Given the description of an element on the screen output the (x, y) to click on. 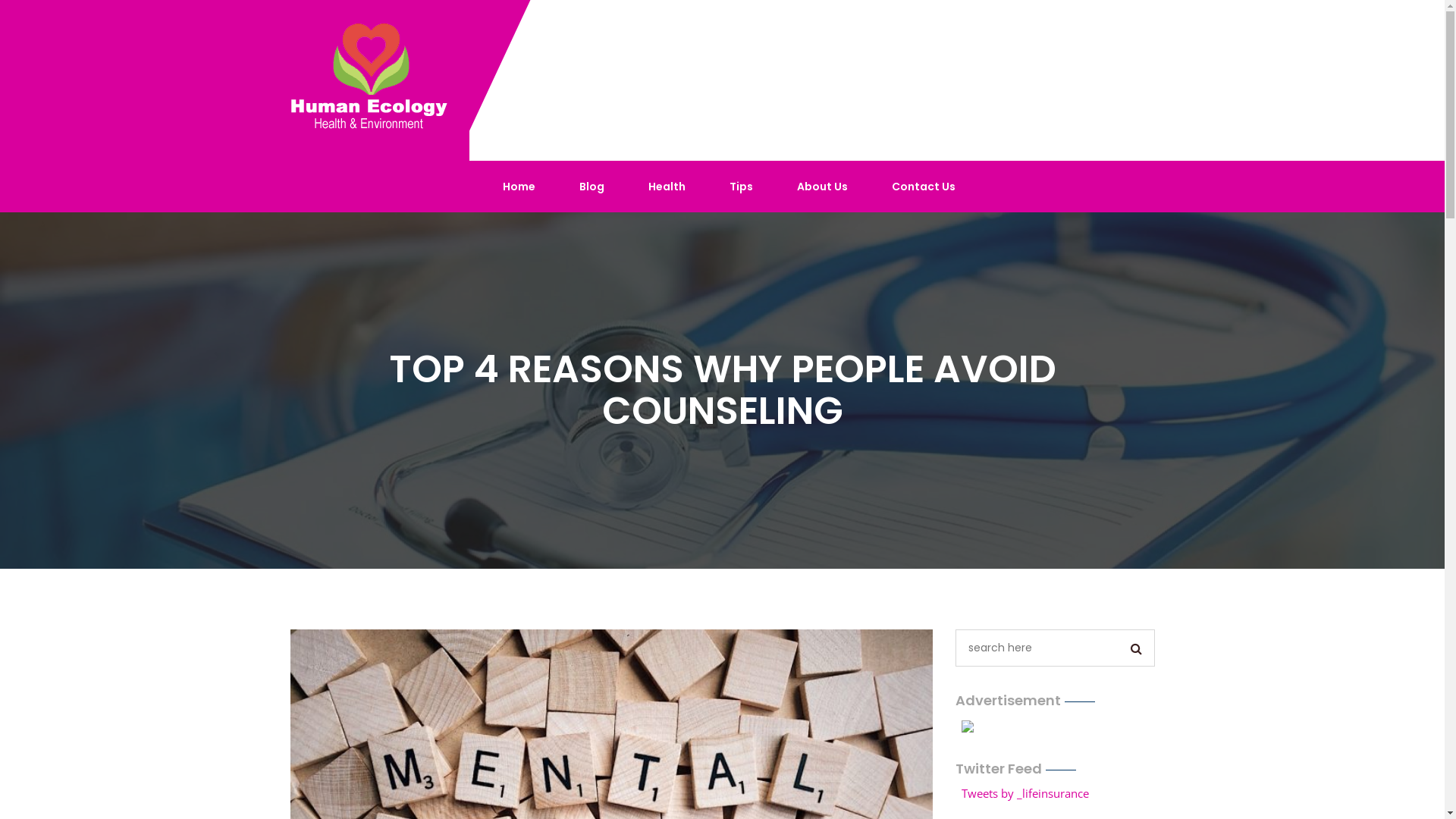
Blog Element type: text (591, 187)
Health Element type: text (666, 187)
Search for: Element type: hover (1039, 647)
About Us Element type: text (822, 187)
Tips Element type: text (741, 187)
Home Element type: text (518, 187)
Tweets by _lifeinsurance Element type: text (1024, 792)
Contact Us Element type: text (923, 187)
